Given the description of an element on the screen output the (x, y) to click on. 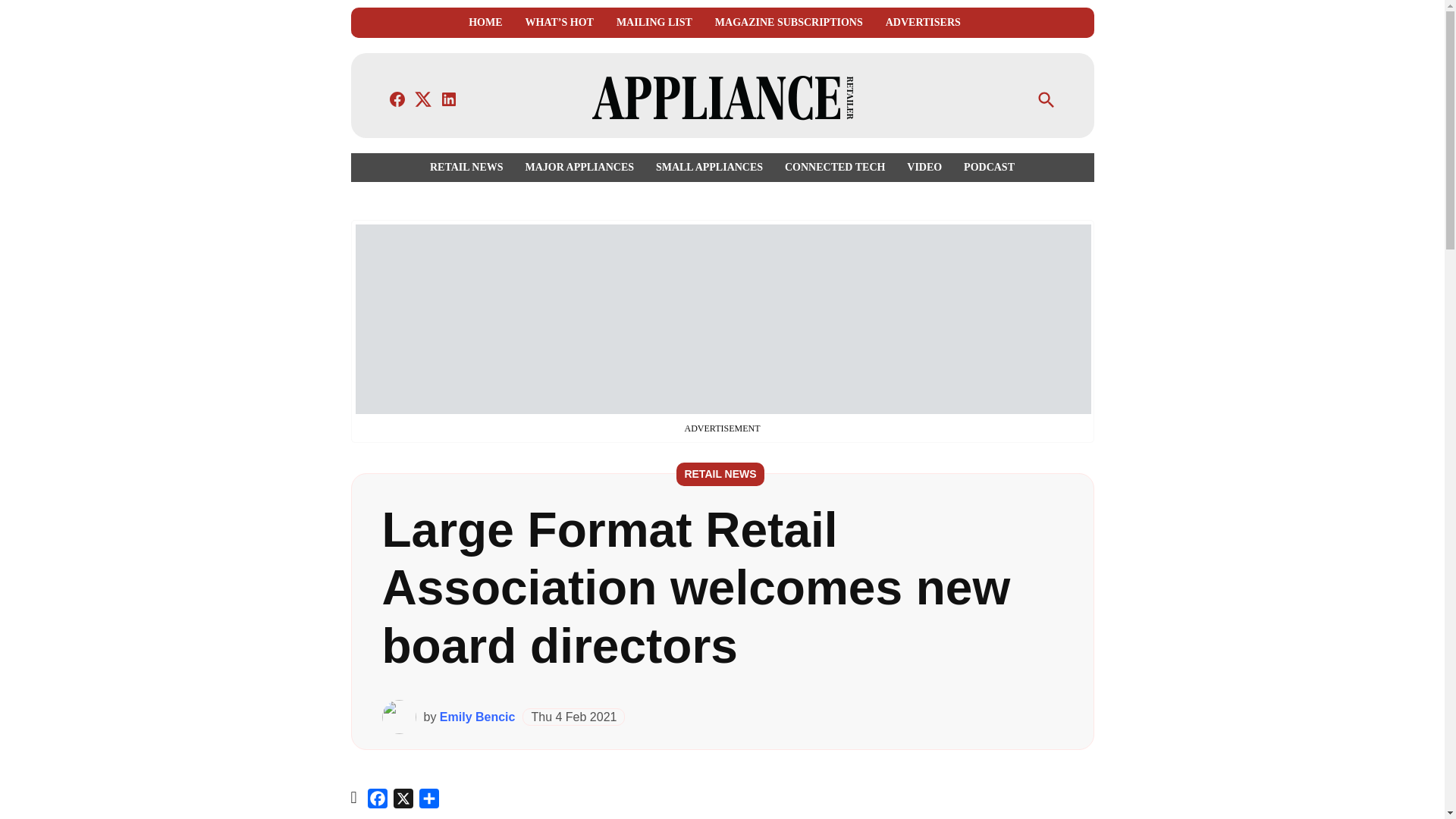
LINKEDIN (448, 99)
SMALL APPLIANCES (708, 167)
HOME (484, 22)
PODCAST (985, 167)
VIDEO (924, 167)
MAILING LIST (653, 22)
FACEBOOK (397, 99)
RETAIL NEWS (470, 167)
X (403, 801)
ADVERTISERS (922, 22)
